Given the description of an element on the screen output the (x, y) to click on. 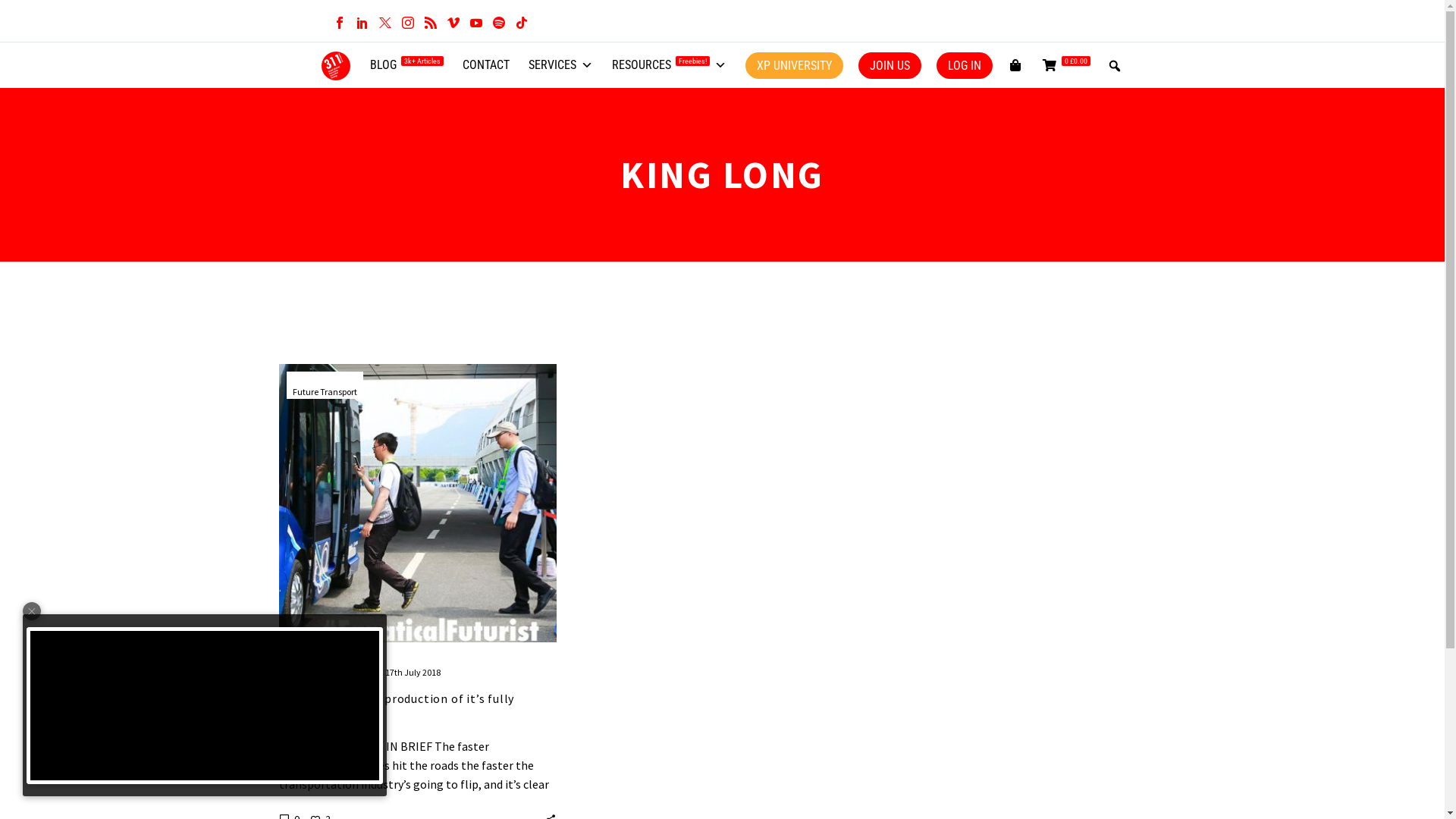
Facebook Element type: hover (338, 22)
Vimeo Element type: hover (452, 22)
CONTACT Element type: text (486, 64)
Matthew Griffin Element type: text (340, 671)
Spotify Element type: hover (497, 22)
BLOG3k+ Articles Element type: text (406, 64)
LinkedIn Element type: hover (361, 22)
JOIN US Element type: text (889, 64)
Search Element type: text (15, 15)
RESOURCESFreebies! Element type: text (668, 64)
Twitter Element type: hover (384, 22)
TikTok Element type: hover (520, 22)
YouTube Element type: hover (475, 22)
Future Transport Element type: text (324, 391)
LOG IN Element type: text (963, 64)
XP UNIVERSITY Element type: text (793, 64)
SERVICES Element type: text (559, 64)
Instagram Element type: hover (406, 22)
RSS Element type: hover (429, 22)
